Given the description of an element on the screen output the (x, y) to click on. 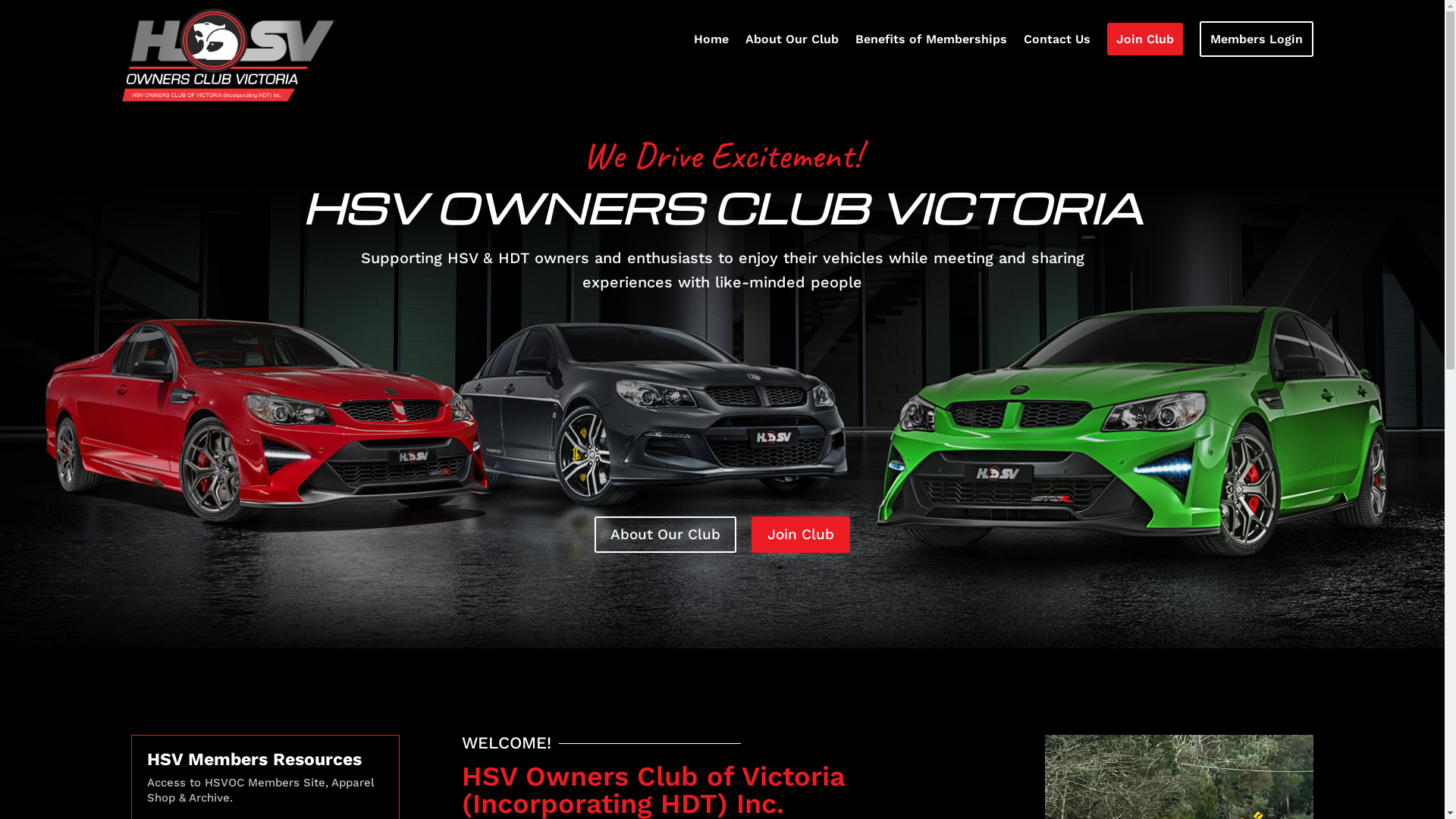
Contact Us Element type: text (1056, 42)
Home Element type: text (710, 42)
About Our Club Element type: text (665, 534)
Join Club Element type: text (800, 534)
Join Club Element type: text (1145, 42)
Members Login Element type: text (1256, 42)
Benefits of Memberships Element type: text (931, 42)
About Our Club Element type: text (791, 42)
